Given the description of an element on the screen output the (x, y) to click on. 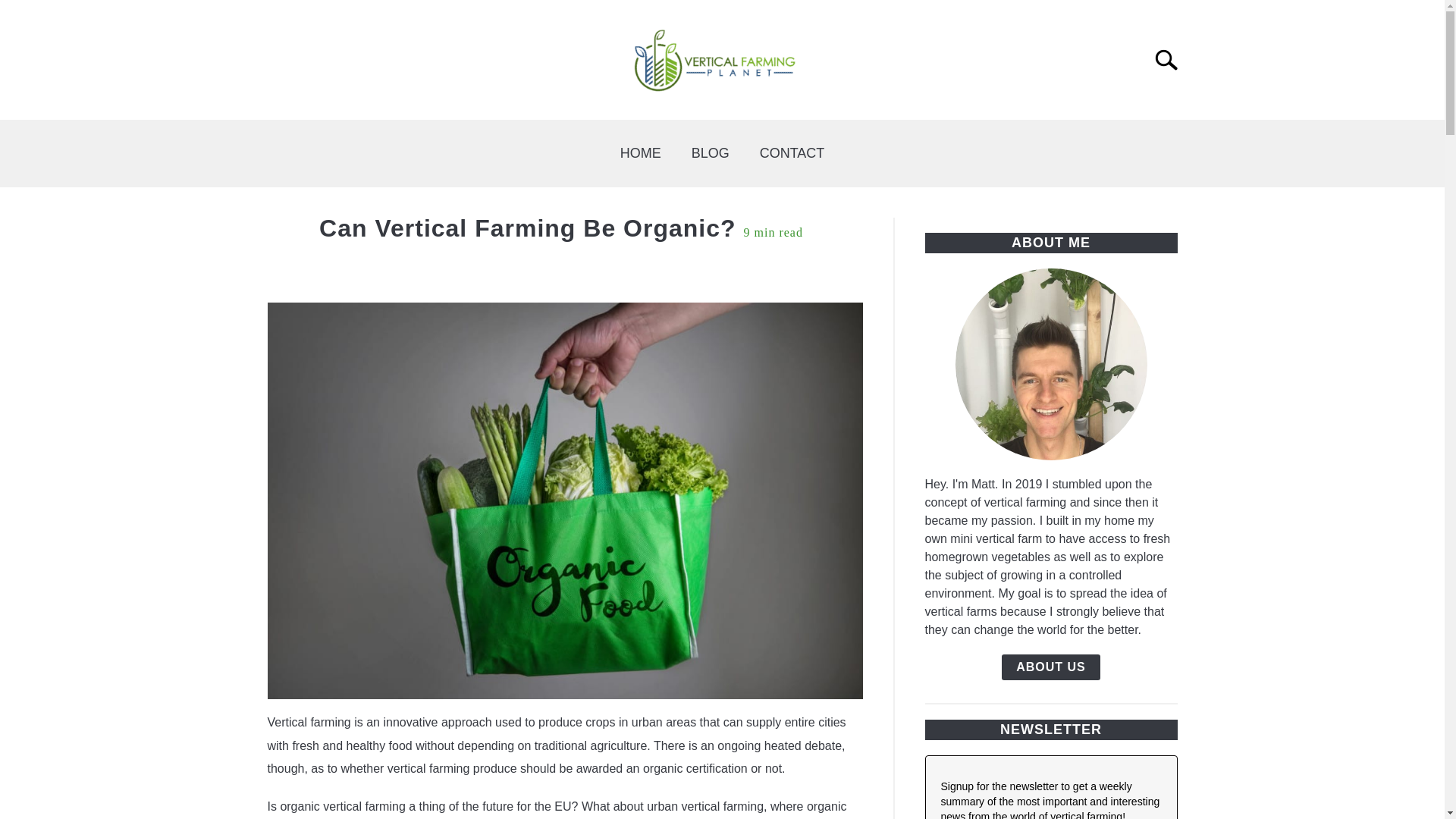
HOME (641, 153)
CONTACT (792, 153)
ABOUT US (1050, 667)
BLOG (710, 153)
Search (1172, 59)
